Given the description of an element on the screen output the (x, y) to click on. 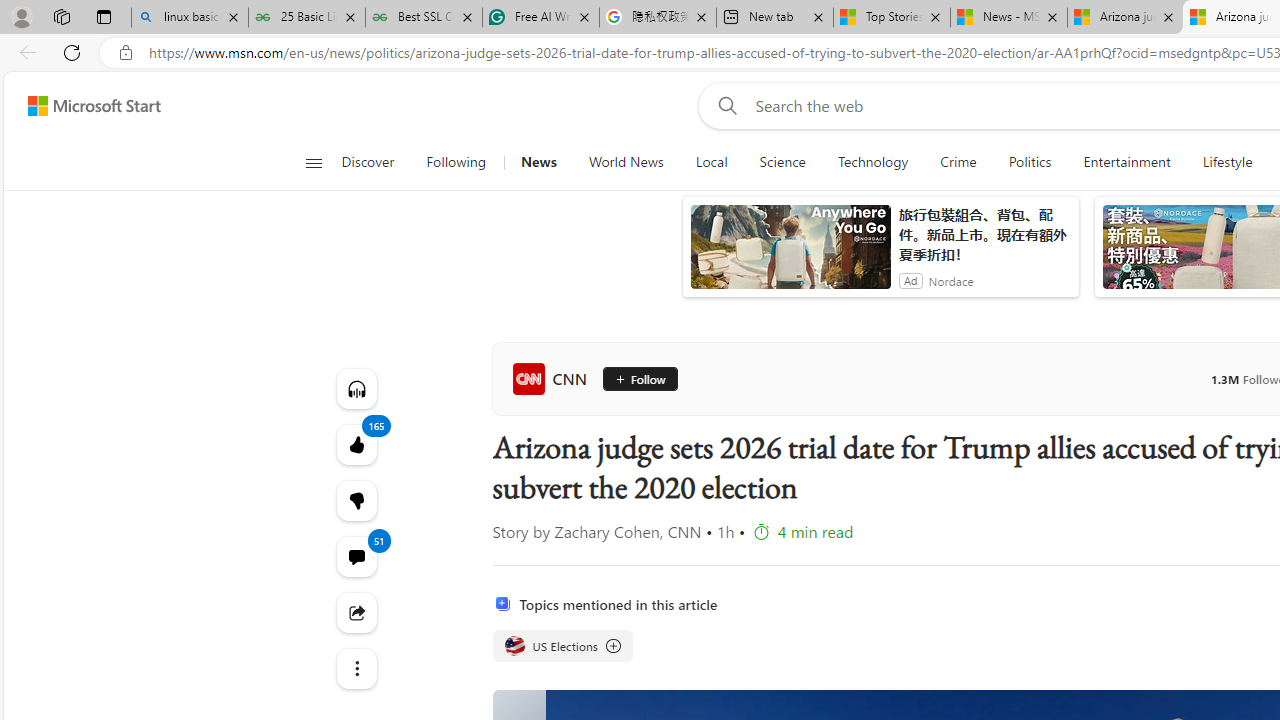
Technology (872, 162)
165 (356, 500)
World News (625, 162)
Politics (1029, 162)
Follow (631, 378)
165 Like (356, 444)
US Elections US Elections US Elections (562, 645)
